Given the description of an element on the screen output the (x, y) to click on. 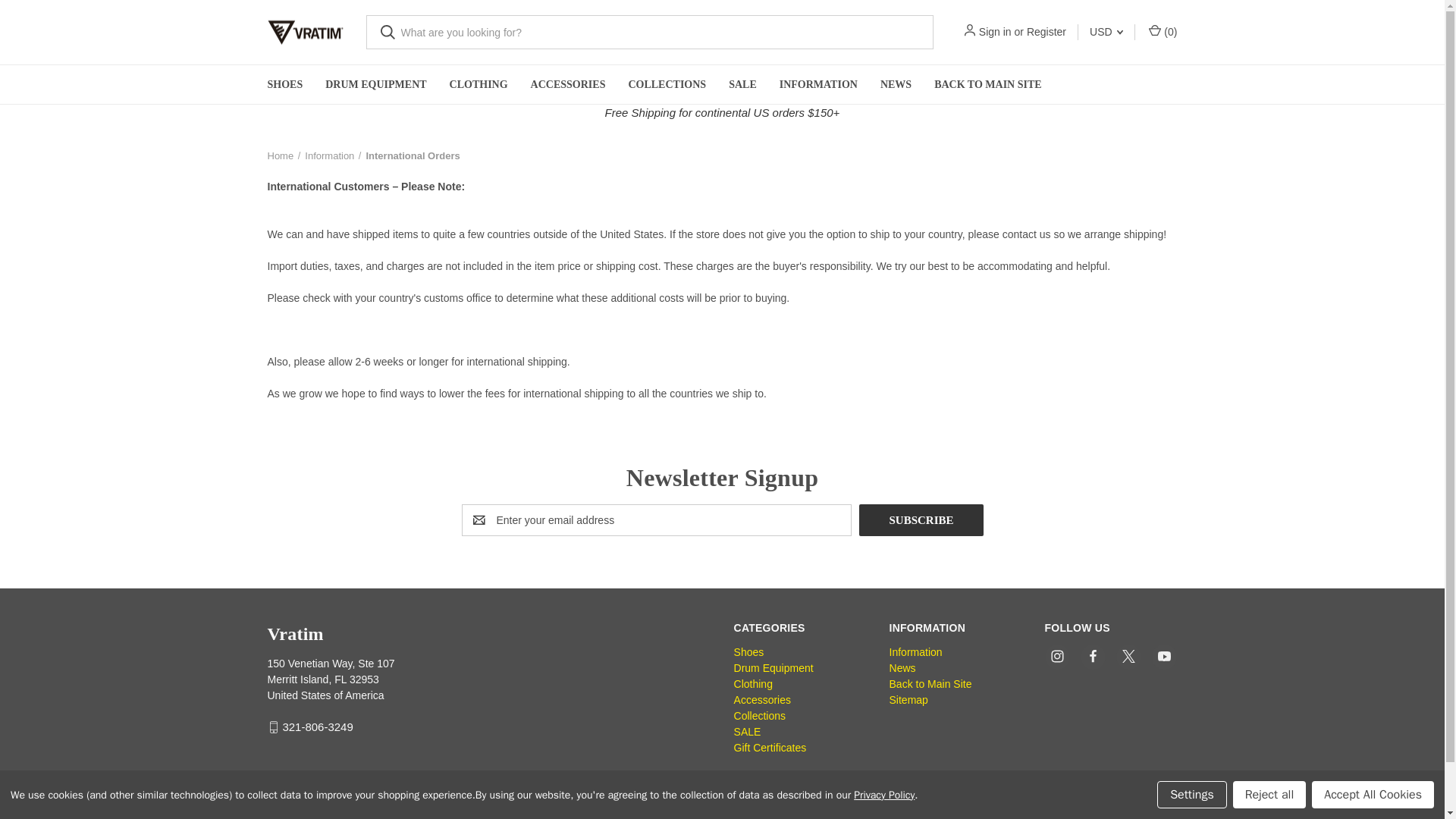
DRUM EQUIPMENT (376, 84)
USD (1106, 32)
VRATIM (304, 32)
Sign in (994, 32)
ACCESSORIES (568, 84)
SHOES (285, 84)
CLOTHING (478, 84)
Subscribe (920, 520)
Register (1045, 32)
Contact Vratim (1027, 234)
